Given the description of an element on the screen output the (x, y) to click on. 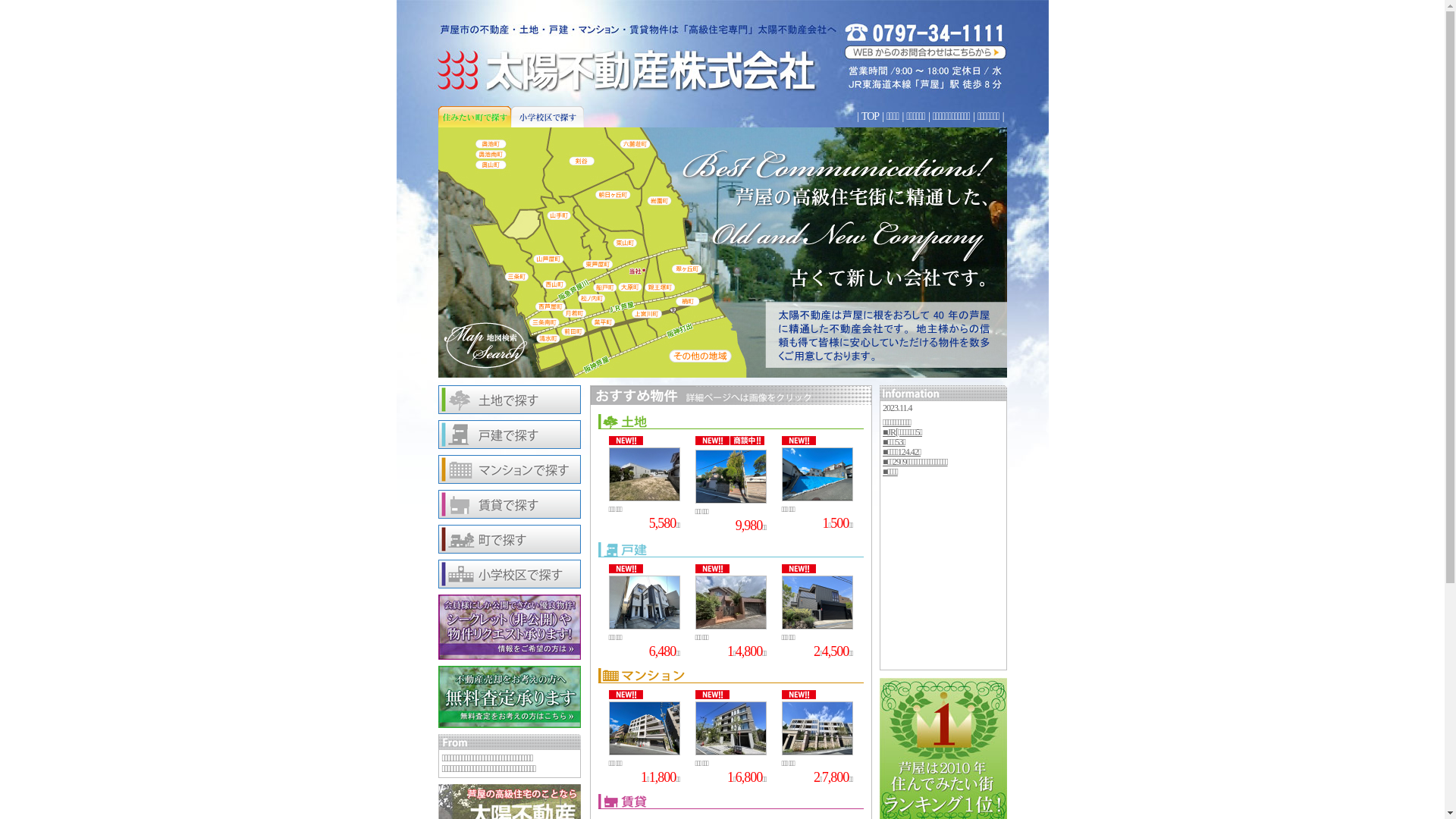
TOP Element type: text (869, 116)
